Given the description of an element on the screen output the (x, y) to click on. 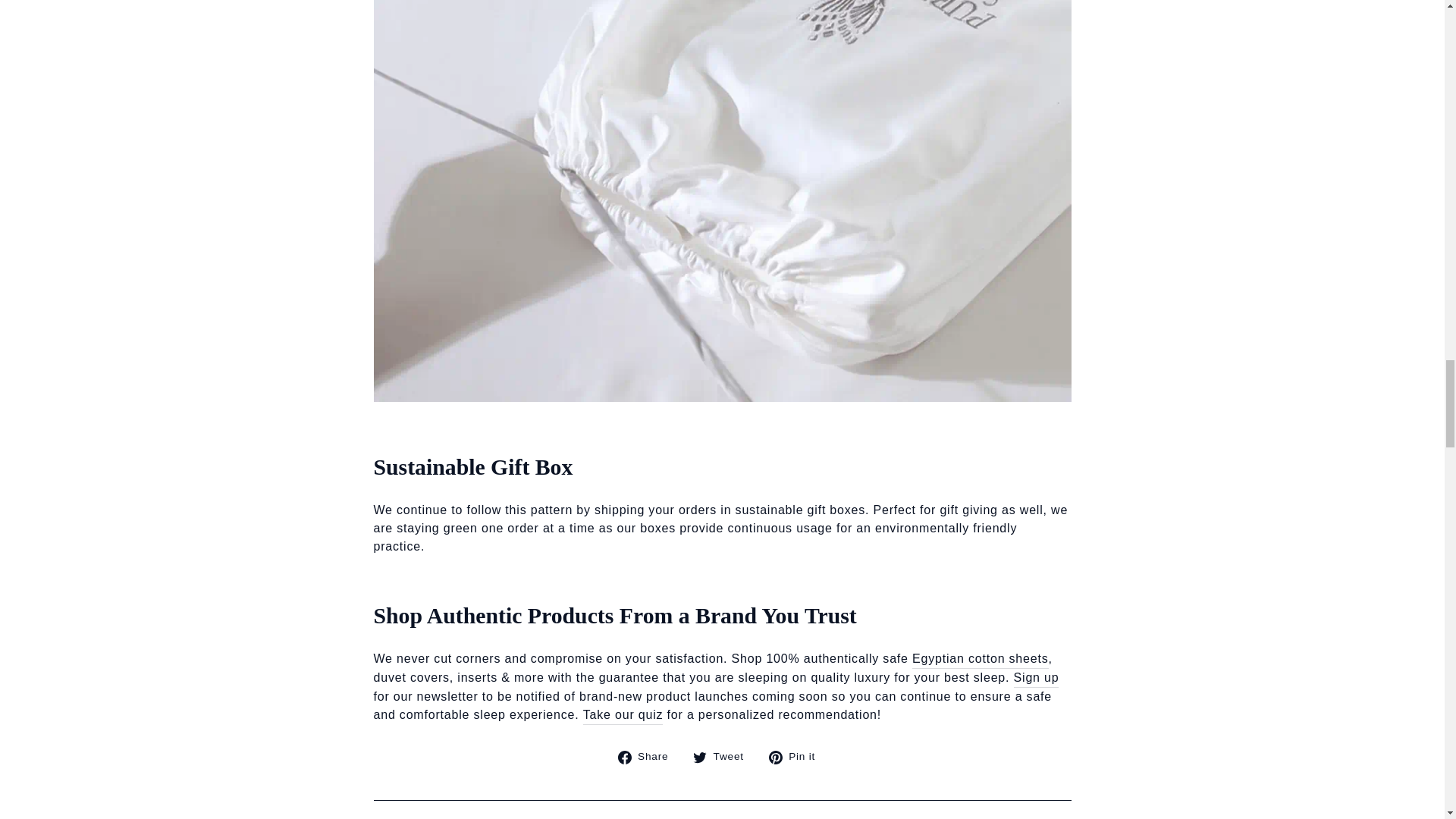
Share on Facebook (648, 756)
Tweet on Twitter (724, 756)
Pin on Pinterest (797, 756)
